Given the description of an element on the screen output the (x, y) to click on. 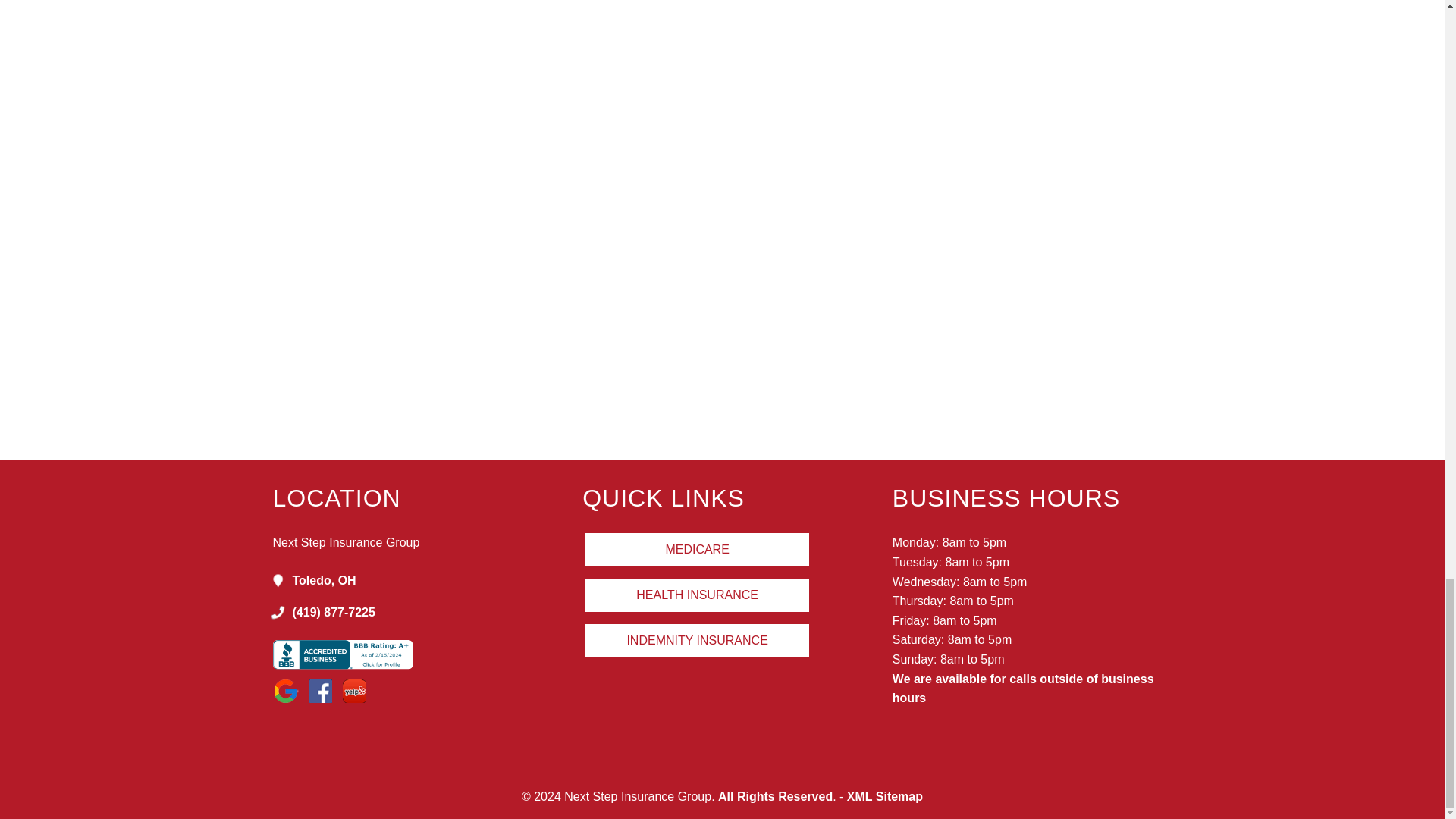
Indemnity Insurance (697, 640)
Health Insurance (697, 594)
Medicare (697, 549)
Google Listing (428, 580)
Terms and Conditions (774, 796)
Call Today (428, 612)
